Given the description of an element on the screen output the (x, y) to click on. 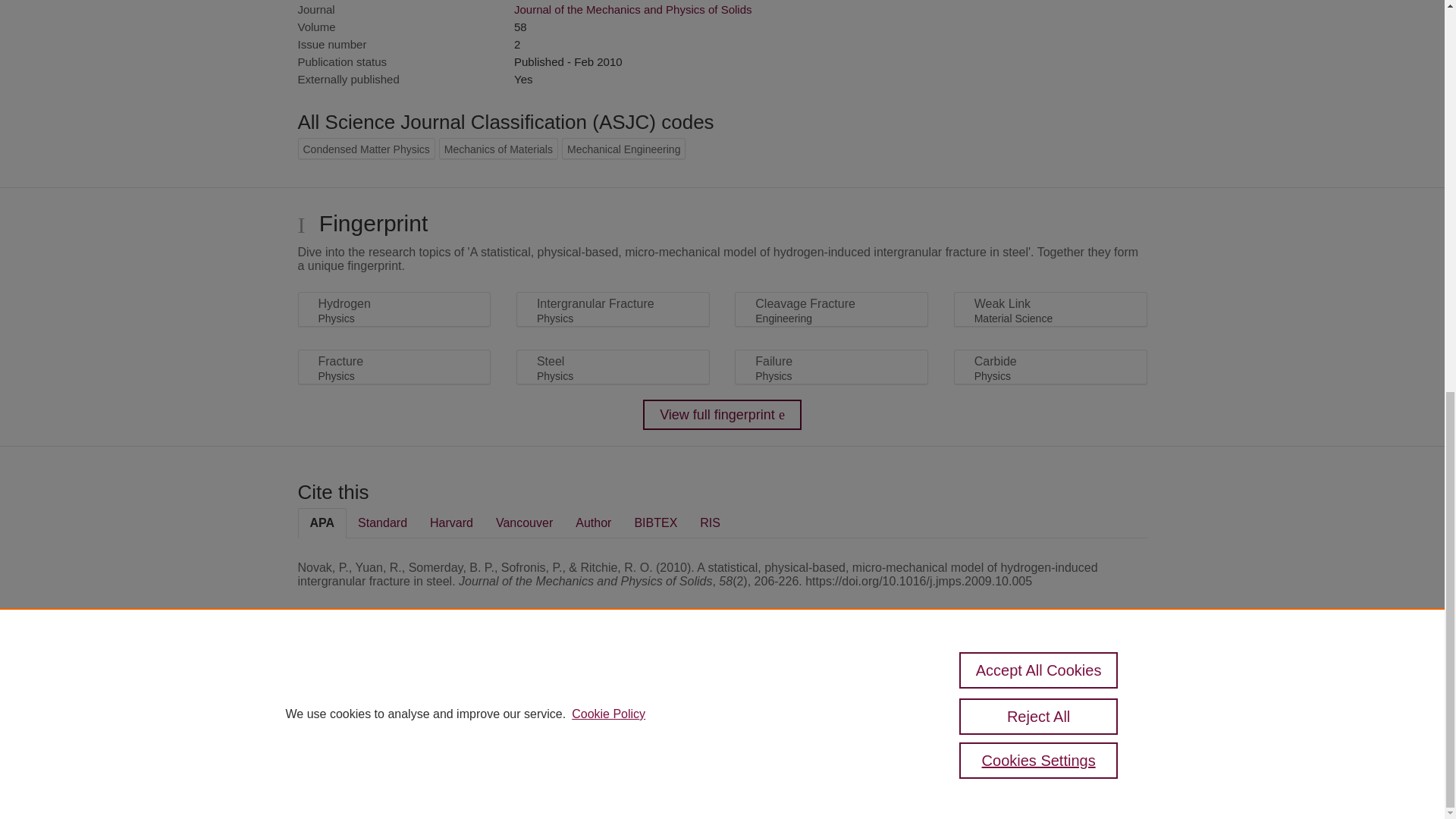
View full fingerprint (722, 414)
Pure (362, 686)
Journal of the Mechanics and Physics of Solids (632, 9)
Cookies Settings (334, 760)
Elsevier B.V. (506, 707)
use of cookies (796, 739)
Scopus (394, 686)
